Given the description of an element on the screen output the (x, y) to click on. 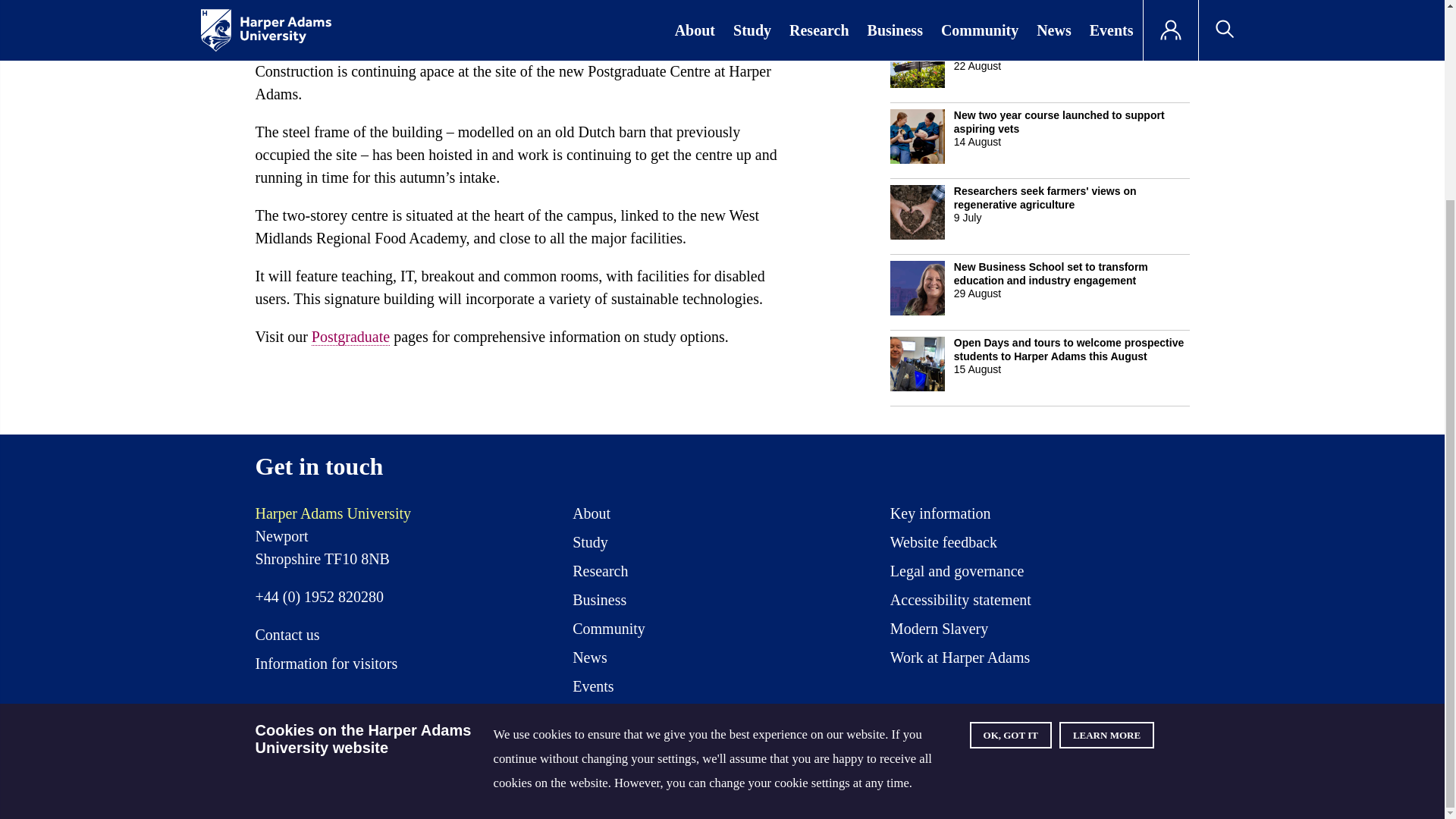
Instagram - opens in a new window (1028, 713)
X - opens in a new window (916, 713)
LinkedIn - opens in a new window (1141, 713)
Modern Slavery Act PDF - opens in a new window (938, 631)
Facebook - opens in a new window (972, 713)
Vimeo - opens in a new window (1084, 713)
